Given the description of an element on the screen output the (x, y) to click on. 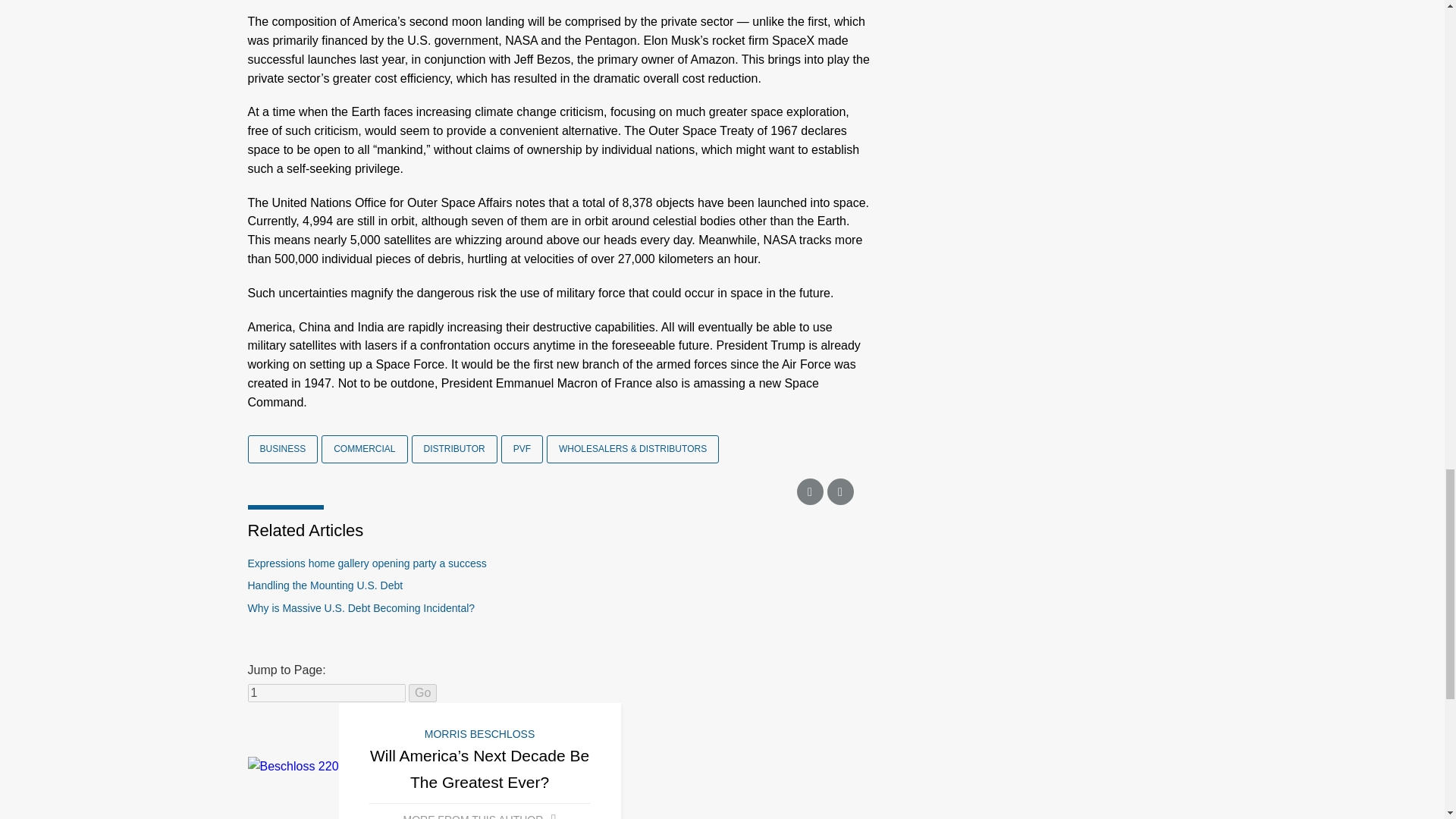
Go (422, 692)
1 (325, 692)
